Given the description of an element on the screen output the (x, y) to click on. 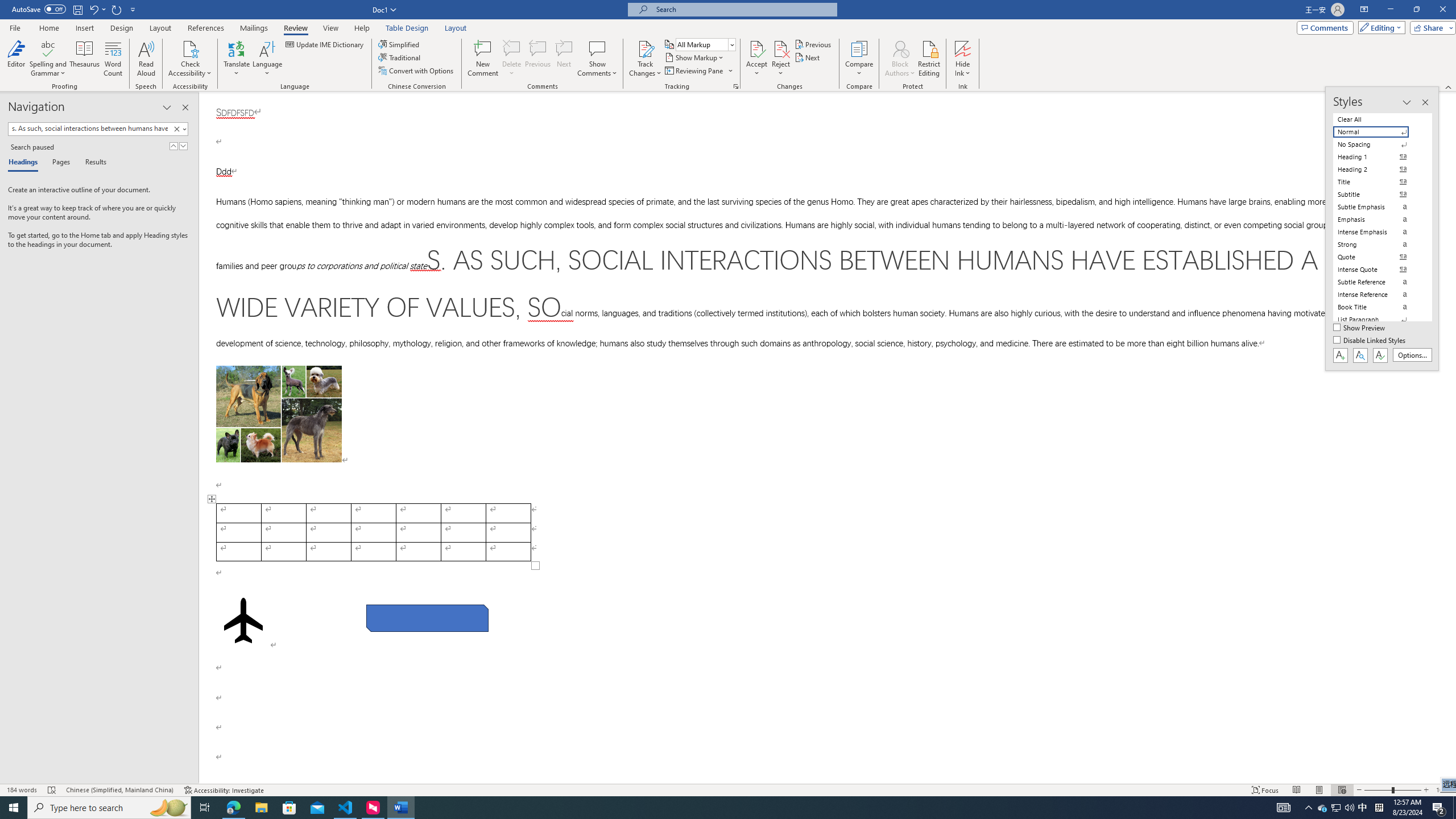
Compare (859, 58)
Subtle Reference (1377, 282)
Track Changes (644, 58)
Translate (236, 58)
Previous Result (173, 145)
Simplified (400, 44)
New Comment (482, 58)
Block Authors (900, 48)
